Given the description of an element on the screen output the (x, y) to click on. 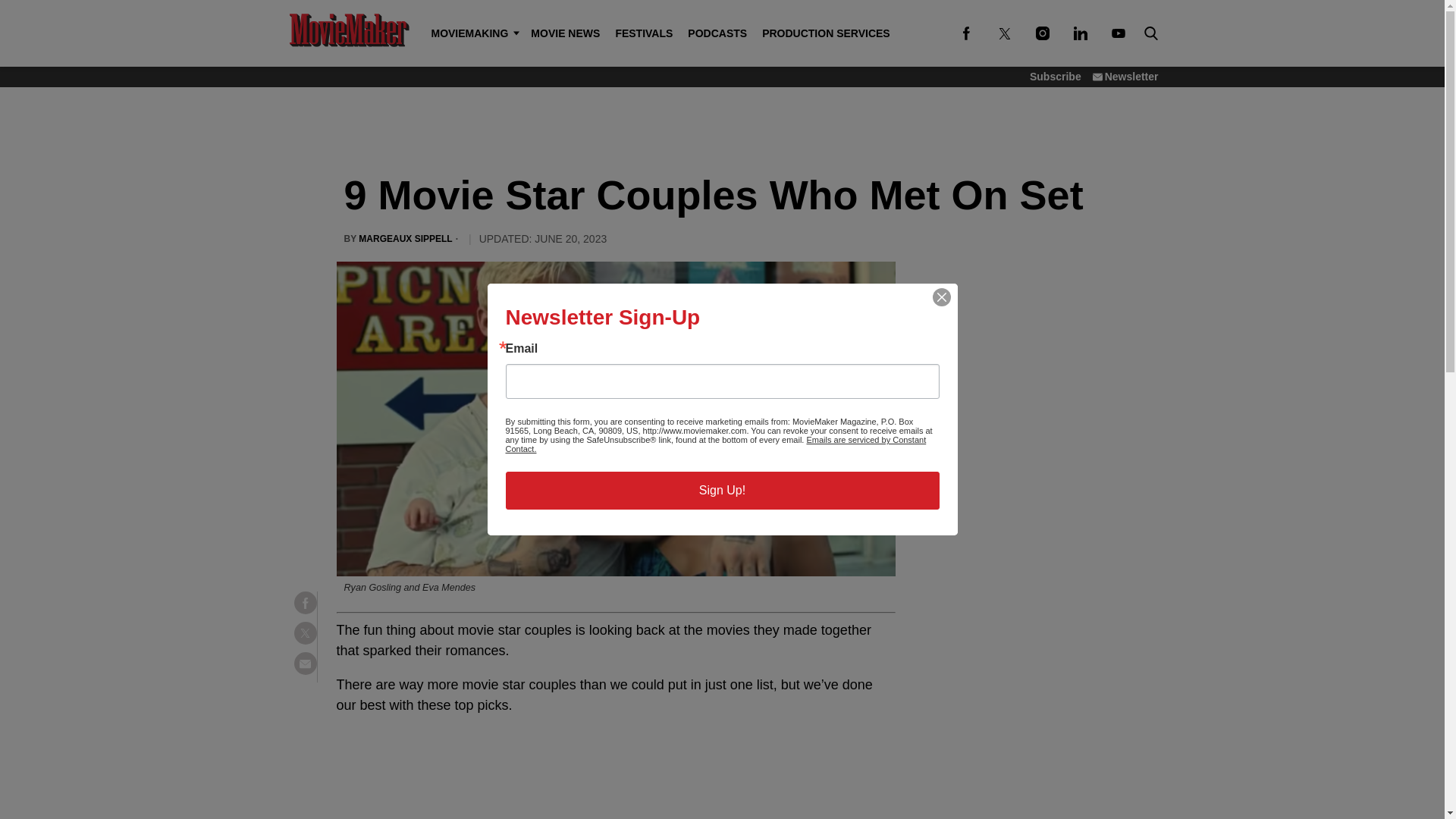
MOVIE NEWS (564, 33)
Subscribe (1055, 76)
FESTIVALS (643, 33)
PRODUCTION SERVICES (826, 33)
3rd party ad content (1032, 370)
Posts by Margeaux Sippell (404, 238)
Share on Facebook (305, 602)
3rd party ad content (615, 795)
Share via Email (305, 662)
MARGEAUX SIPPELL (404, 238)
3rd party ad content (721, 124)
MOVIEMAKING (472, 33)
Newsletter (1125, 76)
3rd party ad content (1032, 586)
PODCASTS (716, 33)
